Given the description of an element on the screen output the (x, y) to click on. 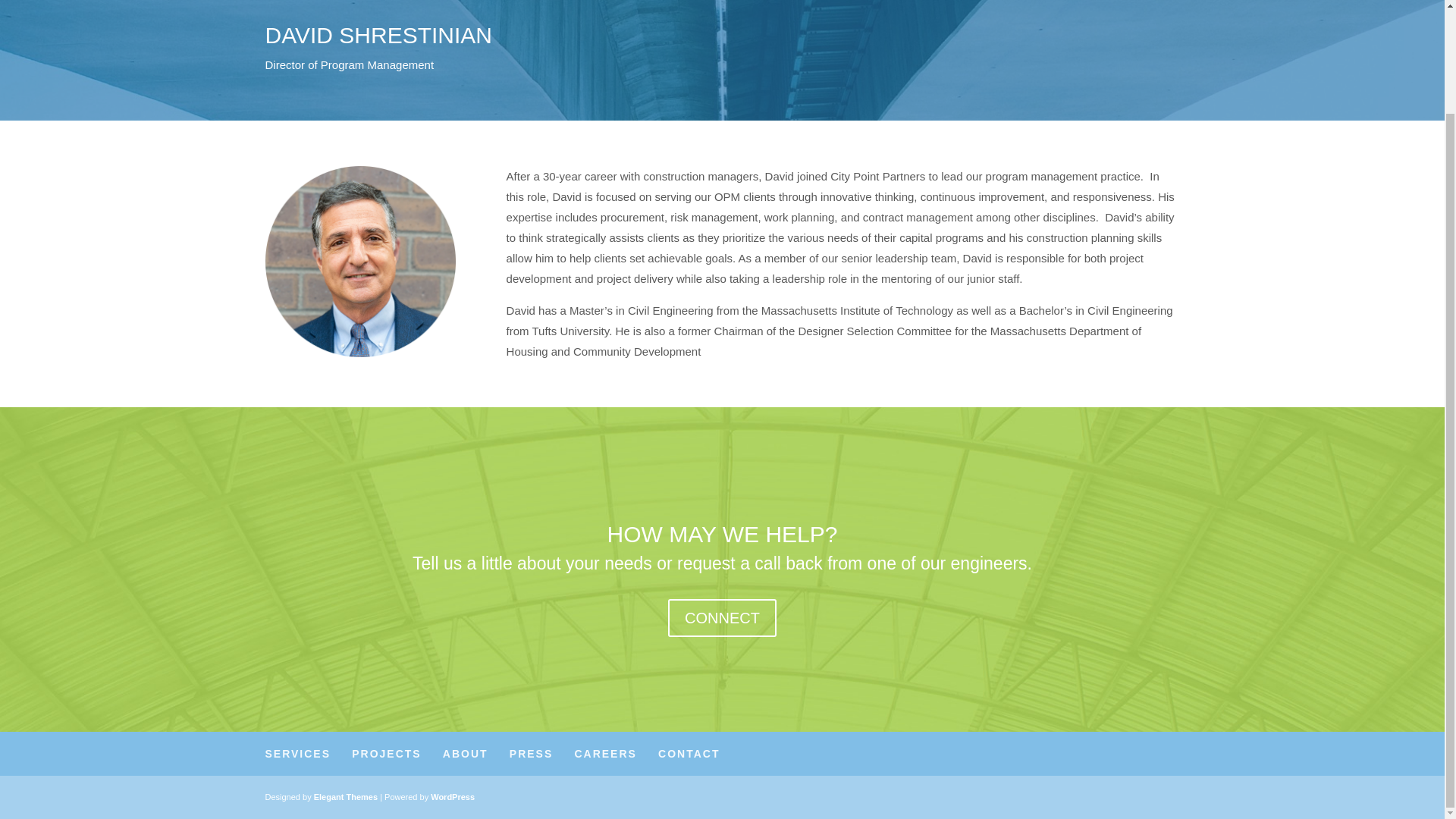
David-Shrestinian (360, 261)
CONTACT (688, 753)
PRESS (531, 753)
Elegant Themes (345, 796)
CAREERS (604, 753)
ABOUT (464, 753)
PROJECTS (386, 753)
Premium WordPress Themes (345, 796)
SERVICES (297, 753)
CONNECT (722, 617)
WordPress (452, 796)
